Given the description of an element on the screen output the (x, y) to click on. 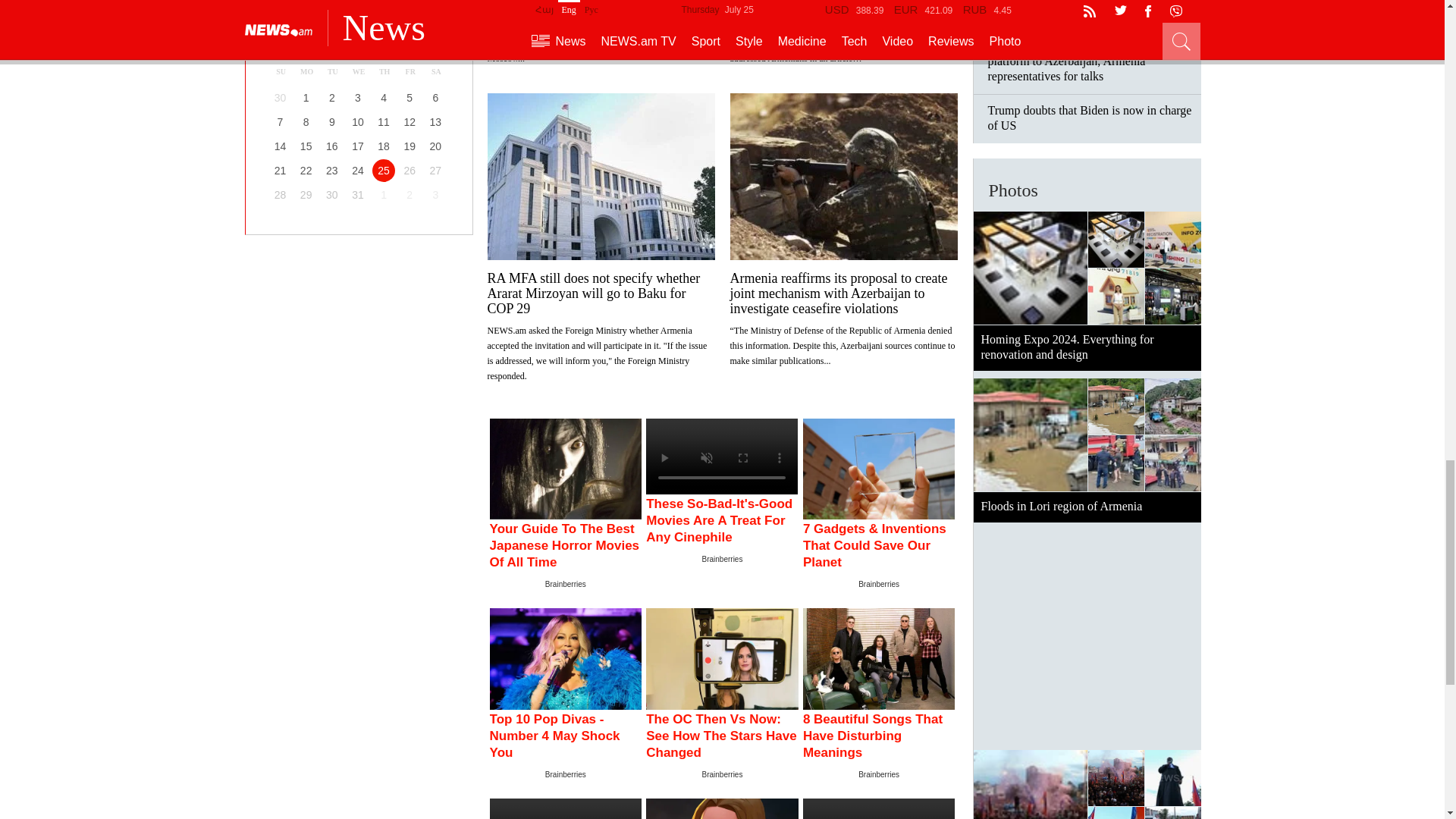
Friday (410, 71)
Wednesday (358, 71)
Tuesday (332, 71)
Sunday (280, 71)
Saturday (435, 71)
Monday (306, 71)
Thursday (384, 71)
